Given the description of an element on the screen output the (x, y) to click on. 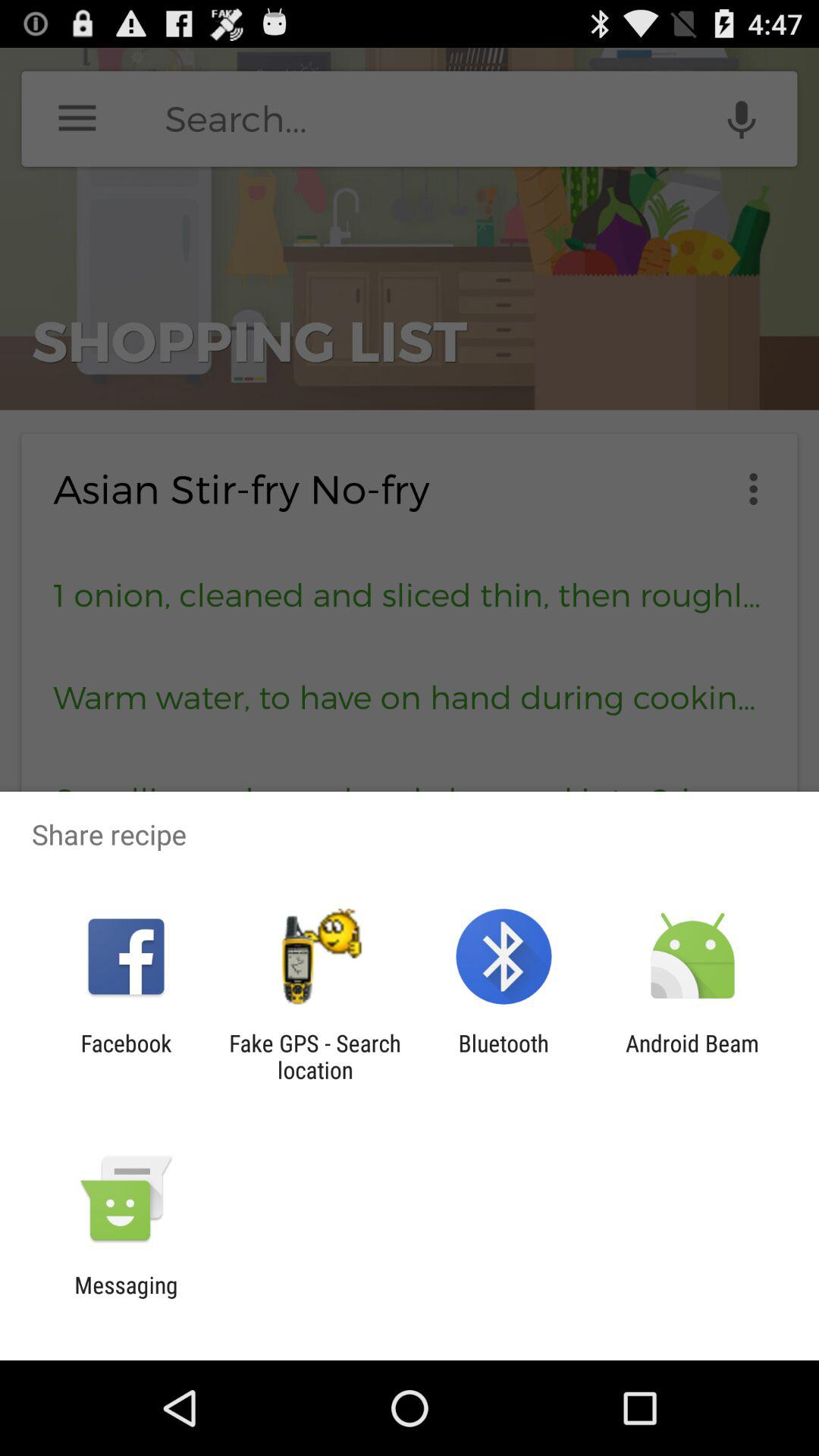
tap app next to the bluetooth icon (692, 1056)
